Given the description of an element on the screen output the (x, y) to click on. 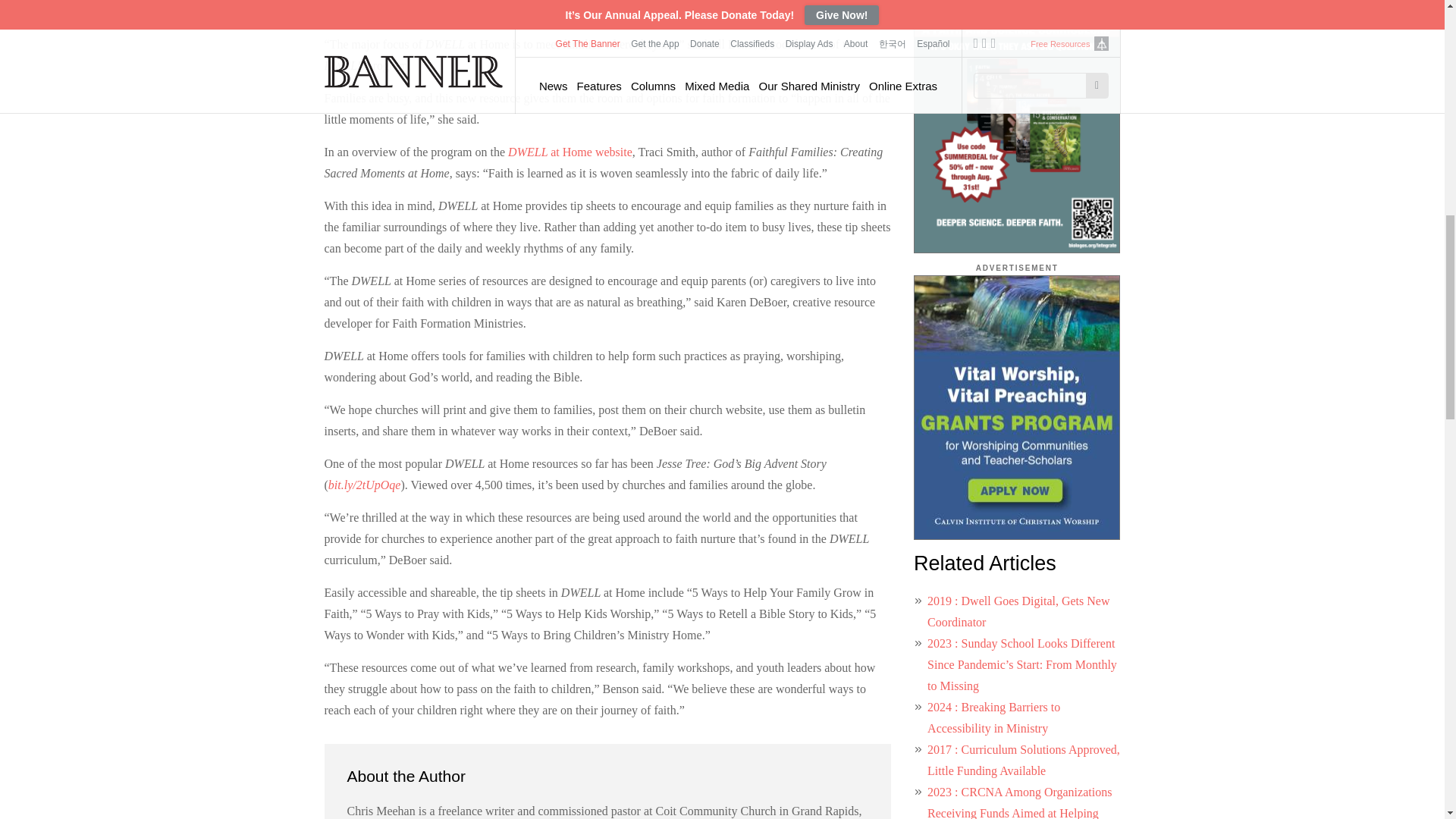
2019 : Dwell Goes Digital, Gets New Coordinator (1018, 611)
DWELL at Home website (569, 151)
2024 : Breaking Barriers to Accessibility in Ministry (993, 717)
